Given the description of an element on the screen output the (x, y) to click on. 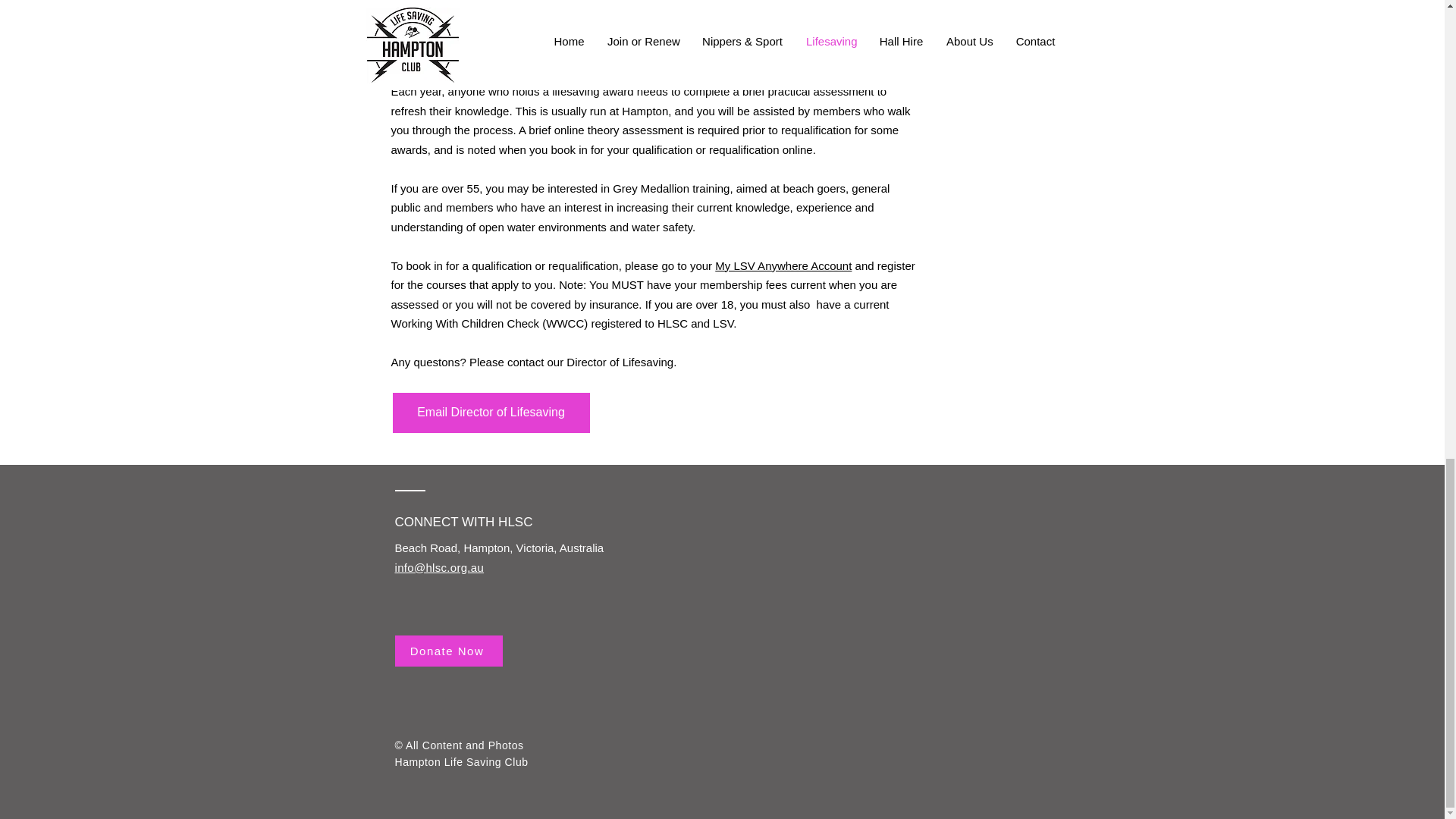
Donate Now (448, 650)
My LSV Anywhere Account (782, 265)
Email Director of Lifesaving (491, 412)
